Given the description of an element on the screen output the (x, y) to click on. 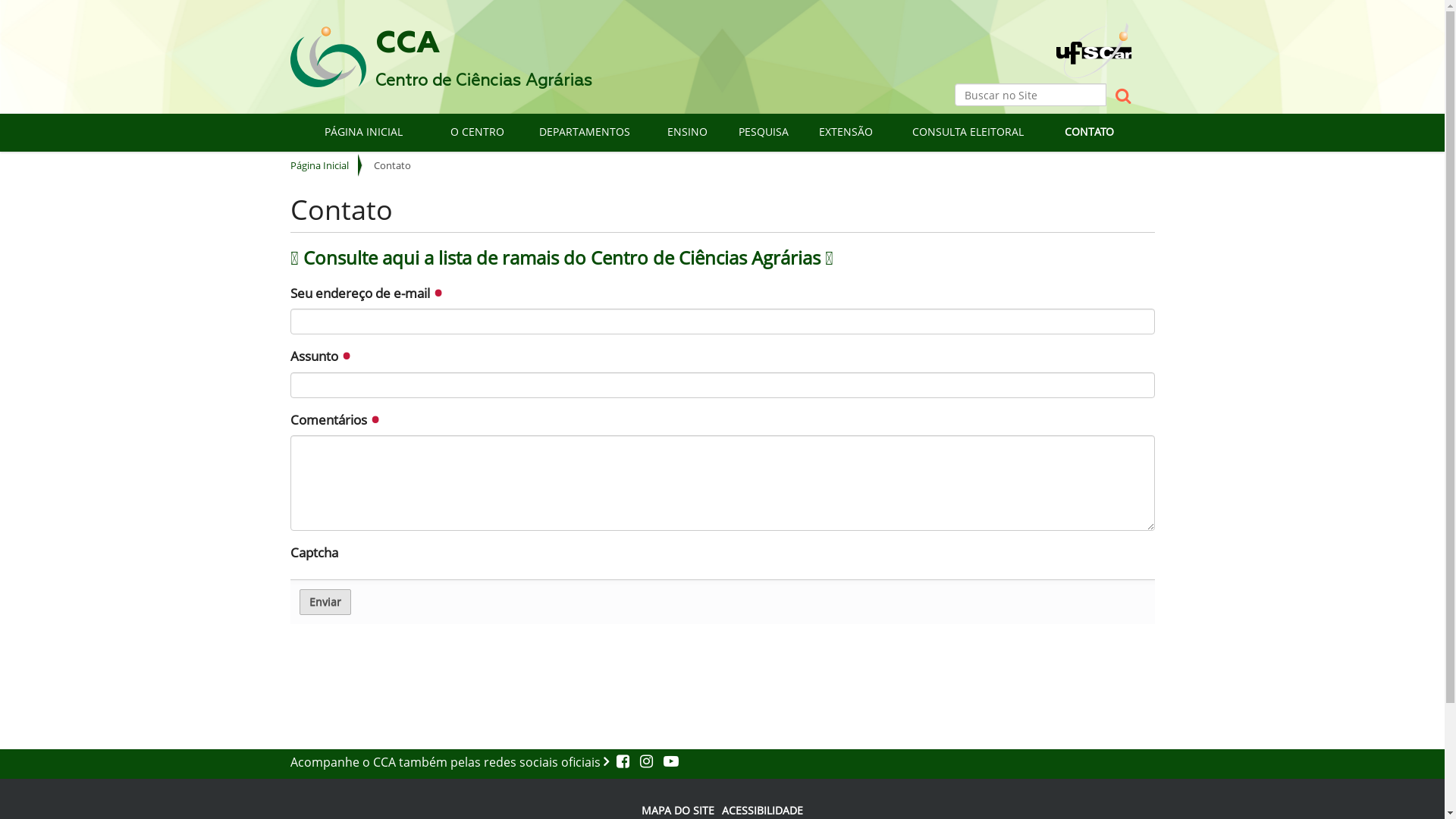
MAPA DO SITE Element type: text (677, 810)
Enviar Element type: text (324, 602)
ENSINO Element type: text (687, 131)
PESQUISA Element type: text (763, 131)
Instagram Element type: hover (643, 761)
DEPARTAMENTOS Element type: text (584, 131)
YouTube Element type: hover (666, 761)
CONSULTA ELEITORAL Element type: text (968, 131)
Facebook Element type: hover (623, 761)
O CENTRO Element type: text (477, 131)
ACESSIBILIDADE Element type: text (762, 810)
CONTATO Element type: text (1089, 131)
Buscar no Site Element type: hover (1029, 94)
Portal UFSCar Element type: hover (1093, 37)
